Given the description of an element on the screen output the (x, y) to click on. 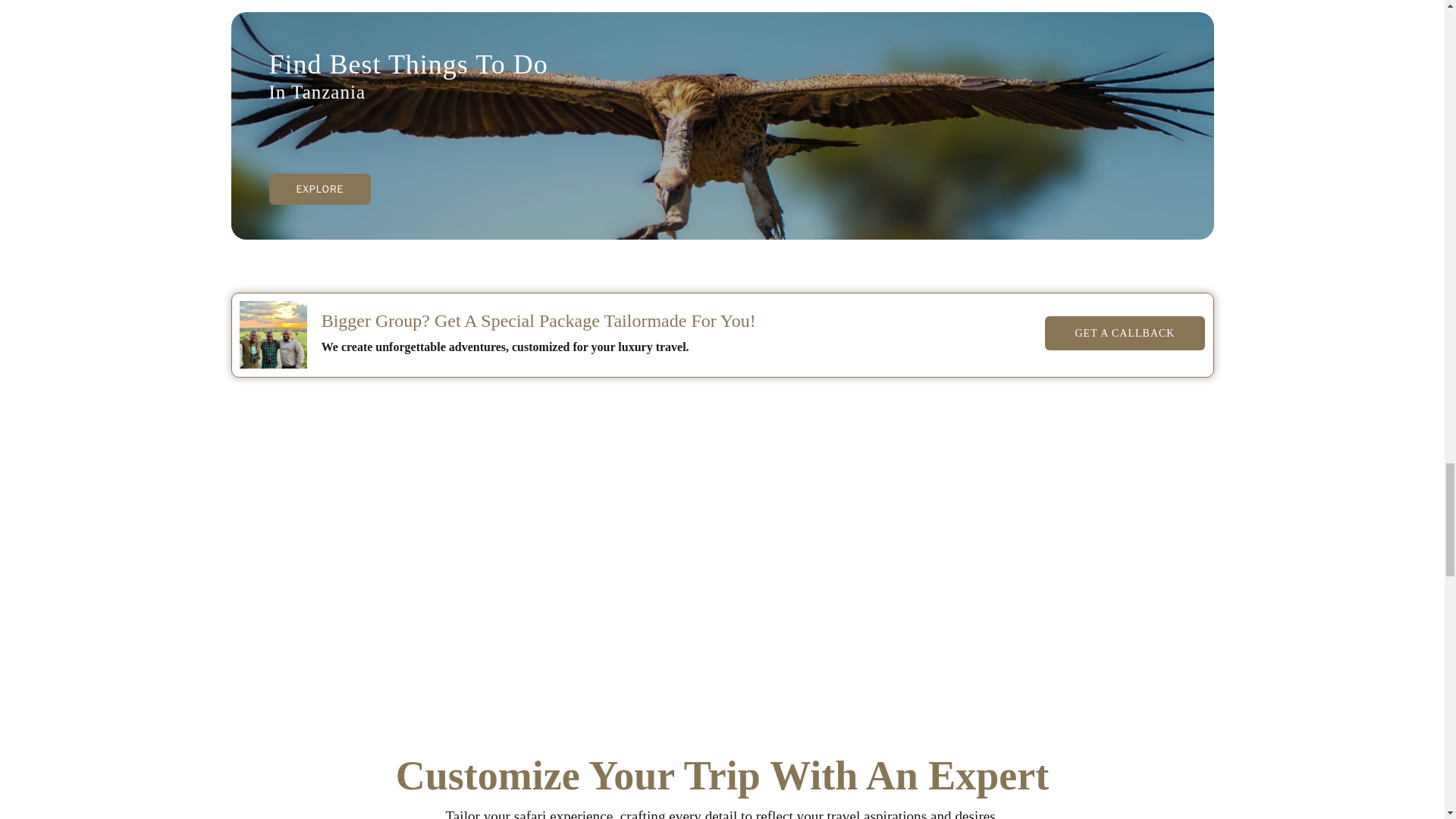
EXPLORE (319, 188)
GET A CALLBACK (1125, 333)
